Given the description of an element on the screen output the (x, y) to click on. 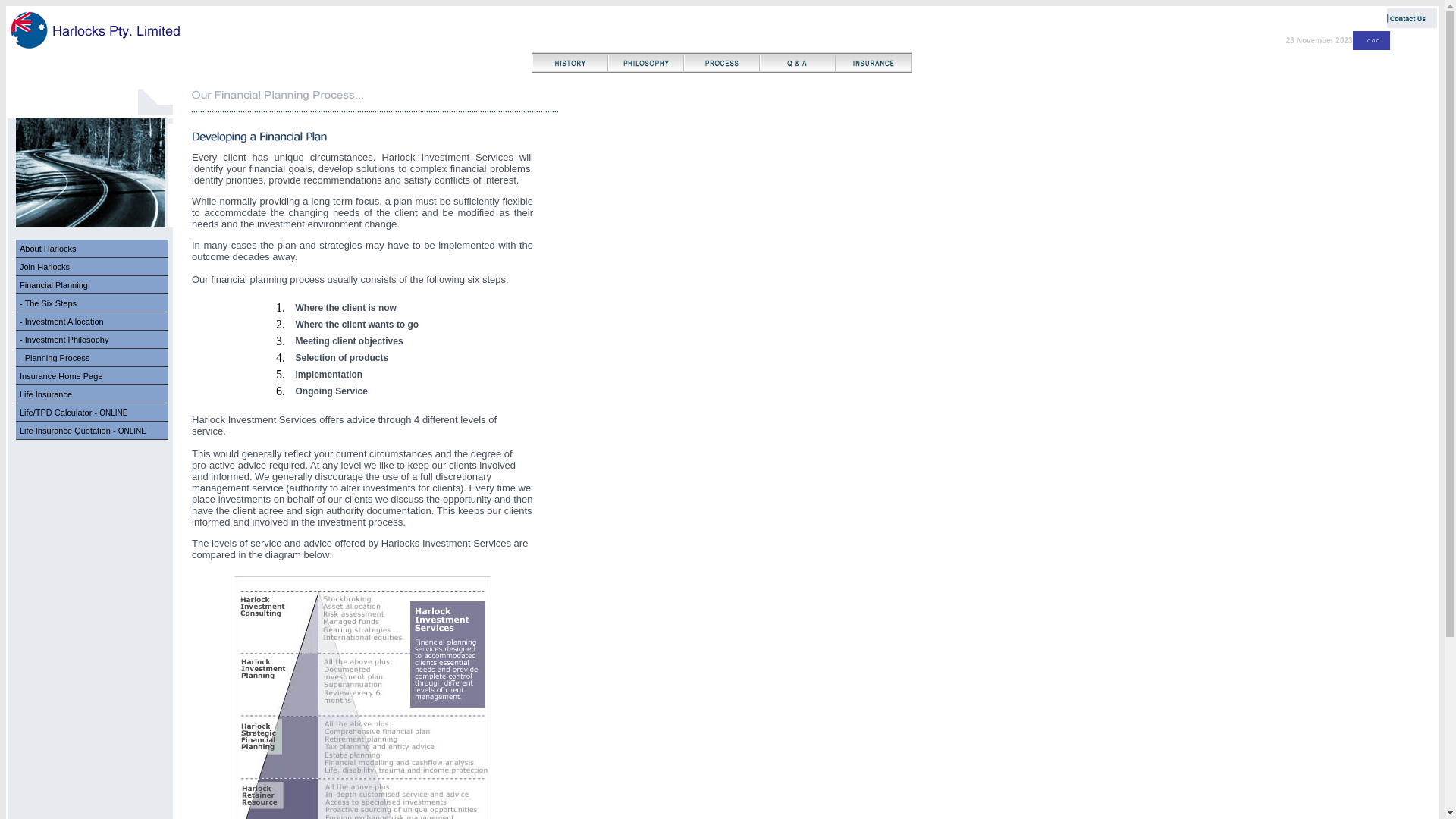
Life/TPD Calculator - ONLINE Element type: text (91, 411)
- Investment Allocation Element type: text (91, 320)
Life Insurance Element type: text (45, 393)
Life Insurance Quotation - ONLINE Element type: text (82, 430)
- Planning Process Element type: text (91, 357)
Financial Planning Element type: text (53, 284)
Where the client wants to go Element type: text (357, 324)
About Harlocks Element type: text (47, 248)
Join Harlocks Element type: text (44, 266)
Where the client is now Element type: text (345, 307)
Insurance Home Page Element type: text (91, 375)
- The Six Steps Element type: text (91, 302)
- Investment Philosophy Element type: text (63, 339)
Financial Planning Element type: text (91, 284)
Life/TPD Calculator - ONLINE Element type: text (73, 412)
- The Six Steps Element type: text (47, 302)
Life Insurance Element type: text (91, 393)
Life Insurance Quotation - ONLINE Element type: text (91, 430)
Implementation Element type: text (329, 374)
Ongoing Service Element type: text (331, 390)
Selection of products Element type: text (342, 357)
Insurance Home Page Element type: text (60, 375)
About Harlocks Element type: text (91, 248)
Meeting client objectives Element type: text (349, 340)
- Investment Allocation Element type: text (61, 321)
- Planning Process Element type: text (54, 357)
- Investment Philosophy Element type: text (91, 339)
Join Harlocks Element type: text (91, 266)
